Given the description of an element on the screen output the (x, y) to click on. 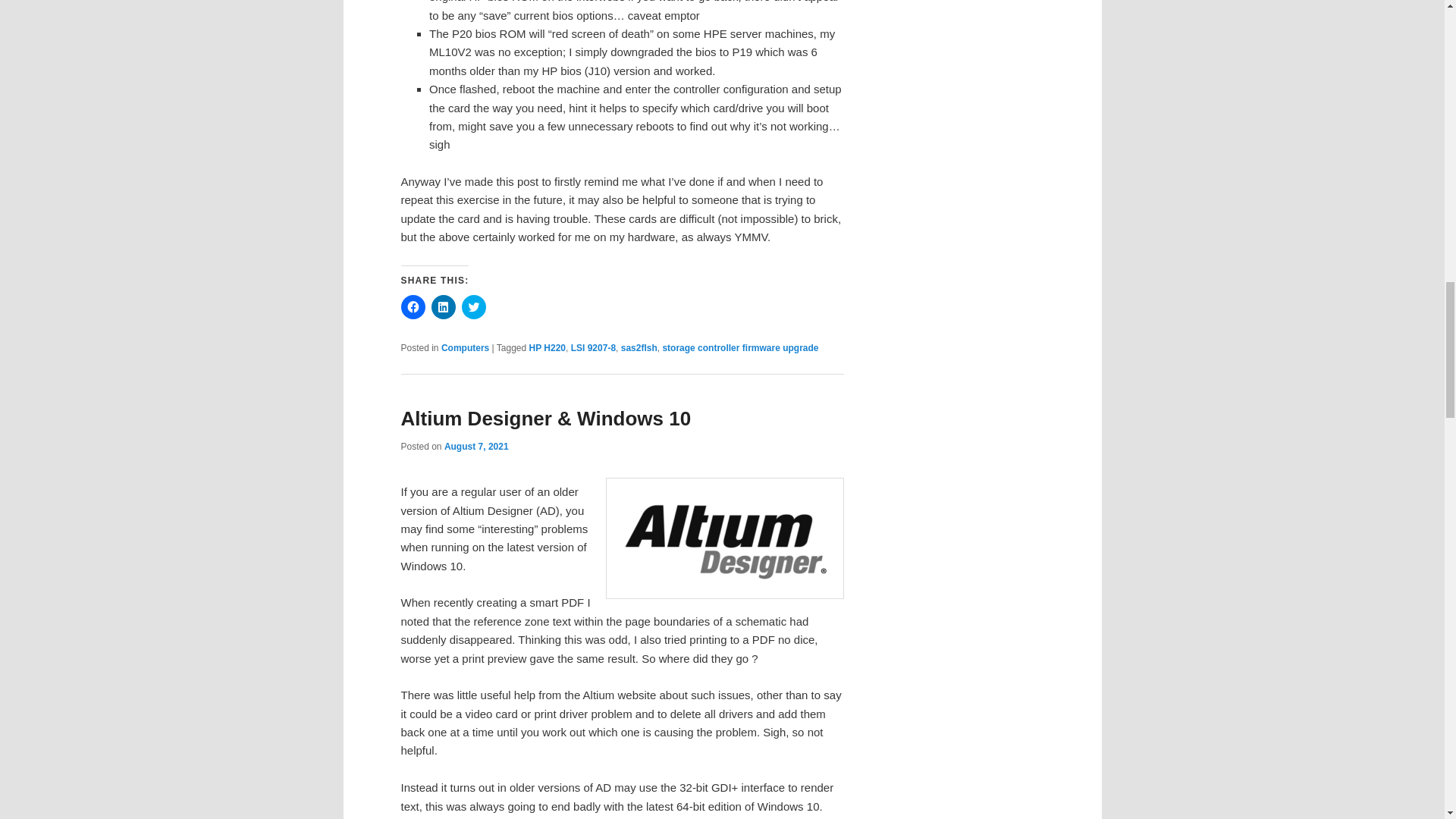
Computers (465, 347)
August 7, 2021 (476, 446)
Click to share on LinkedIn (442, 306)
storage controller firmware upgrade (740, 347)
Click to share on Facebook (412, 306)
12:35 pm (476, 446)
sas2flsh (639, 347)
Click to share on Twitter (472, 306)
HP H220 (547, 347)
LSI 9207-8 (592, 347)
